Given the description of an element on the screen output the (x, y) to click on. 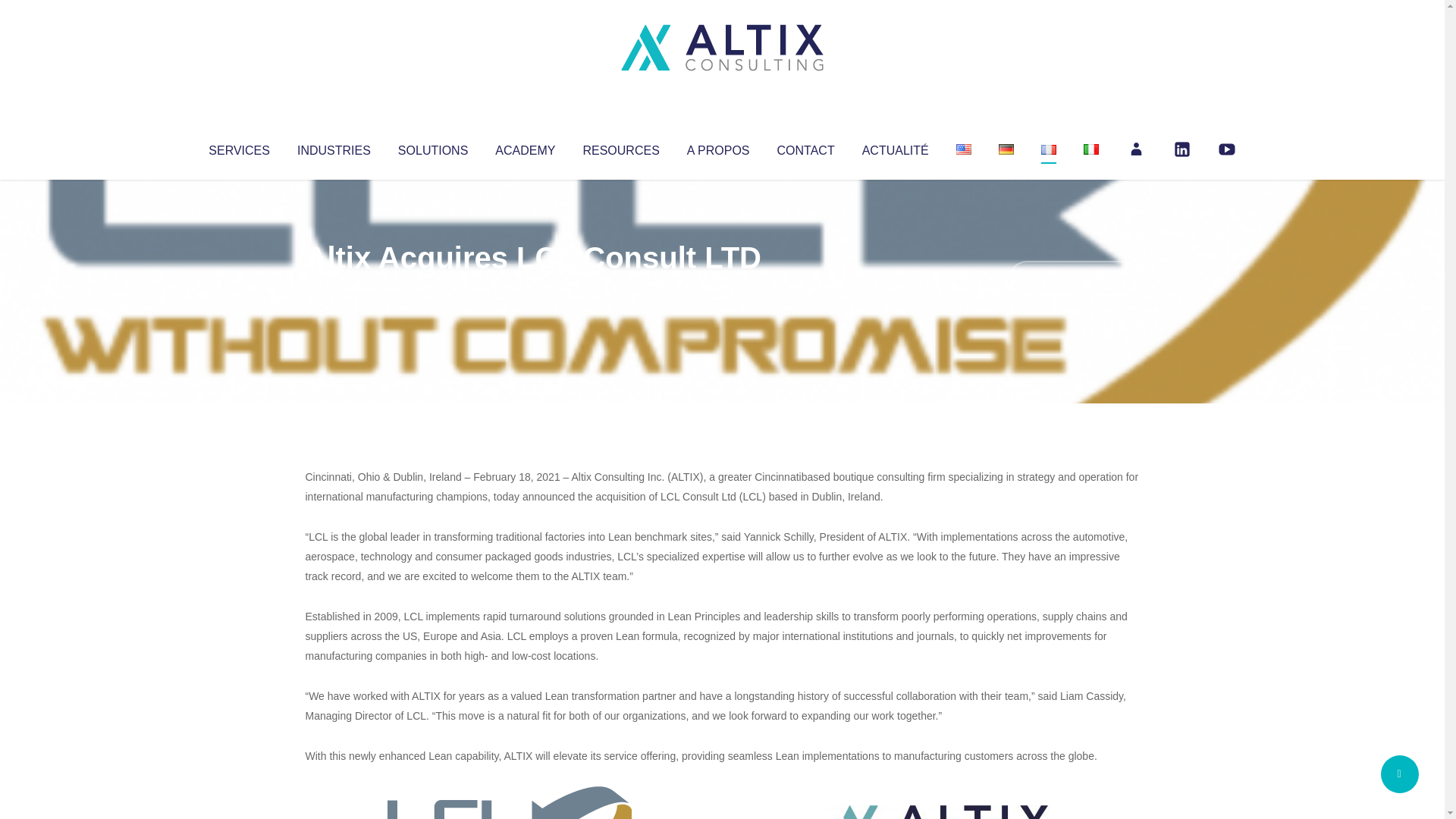
Altix (333, 287)
Uncategorized (530, 287)
Articles par Altix (333, 287)
INDUSTRIES (334, 146)
RESOURCES (620, 146)
No Comments (1073, 278)
A PROPOS (718, 146)
ACADEMY (524, 146)
SERVICES (238, 146)
SOLUTIONS (432, 146)
